Given the description of an element on the screen output the (x, y) to click on. 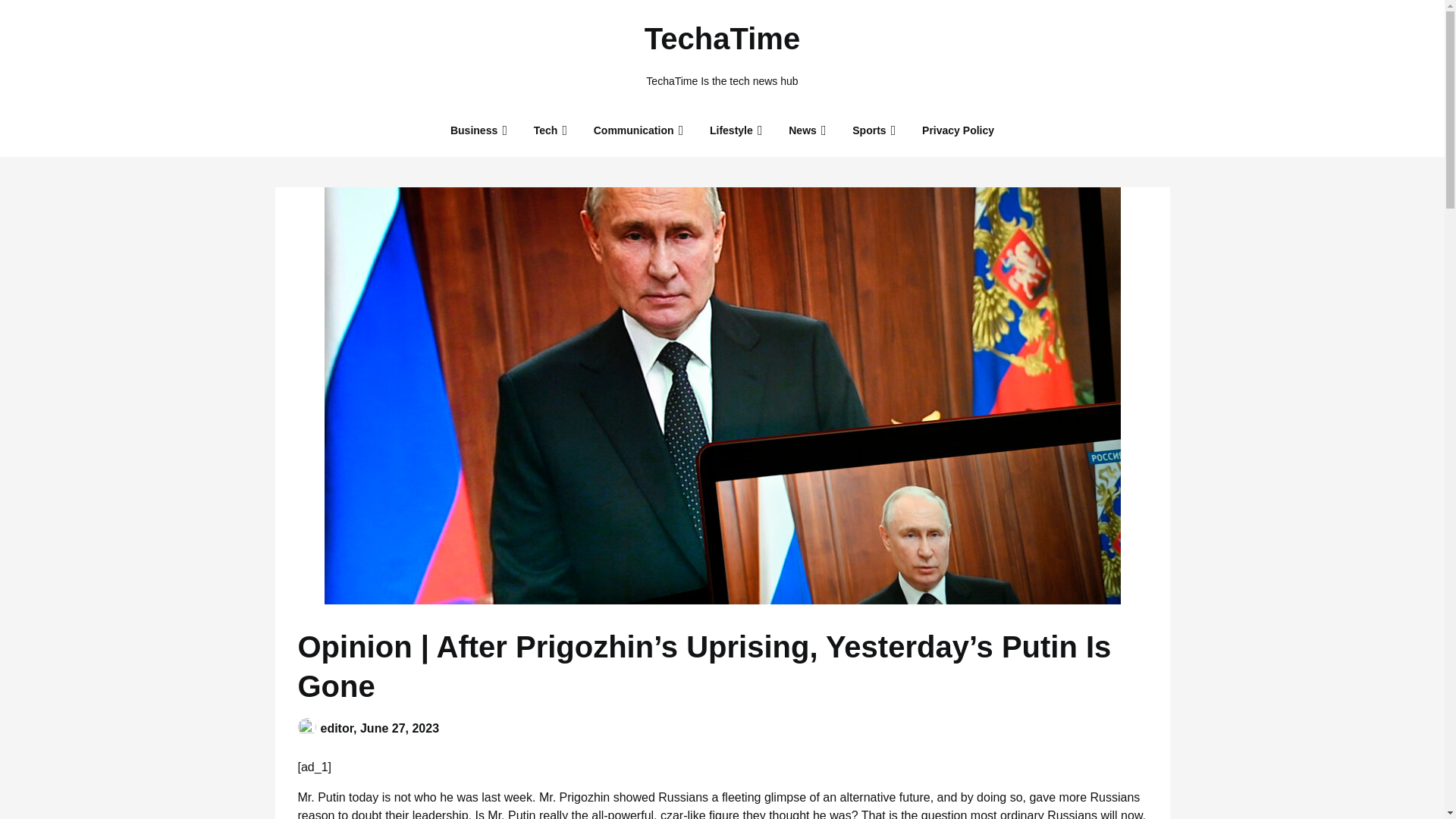
Business (473, 130)
Sports (869, 130)
Lifestyle (731, 130)
Communication (632, 130)
TechaTime (722, 38)
Tech (545, 130)
News (802, 130)
June 27, 2023 (399, 727)
Privacy Policy (958, 130)
